Given the description of an element on the screen output the (x, y) to click on. 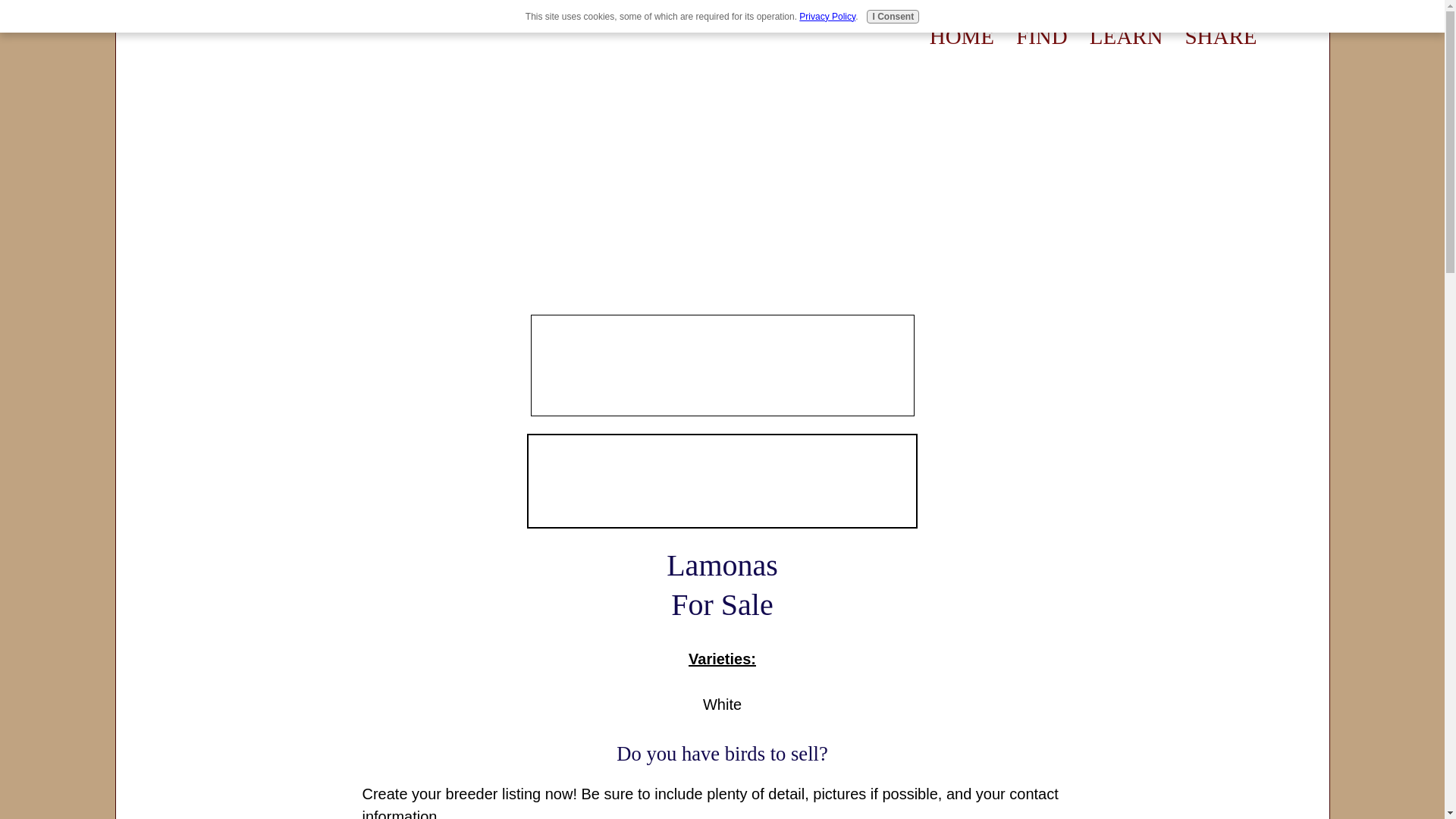
Rogier Updated Gray Banner (722, 481)
Feather Lover Farms Banner June 2024 (722, 365)
HOME (962, 36)
